Given the description of an element on the screen output the (x, y) to click on. 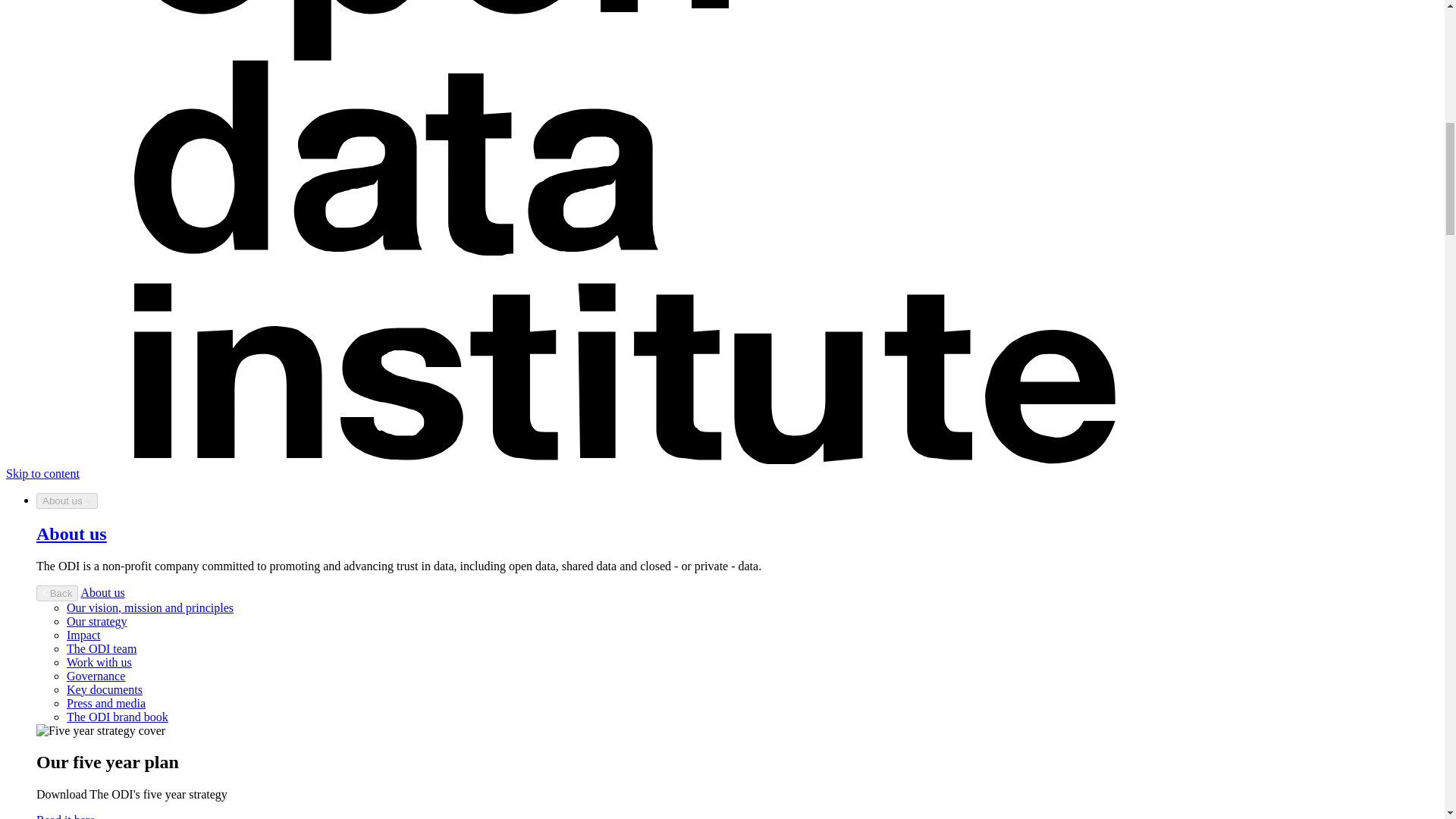
The ODI brand book (117, 716)
About us (66, 500)
Skip to content (42, 472)
Press and media (105, 703)
Work with us (99, 662)
Impact (83, 634)
Read it here (65, 816)
Governance (95, 675)
Back (57, 593)
About us (71, 533)
